Given the description of an element on the screen output the (x, y) to click on. 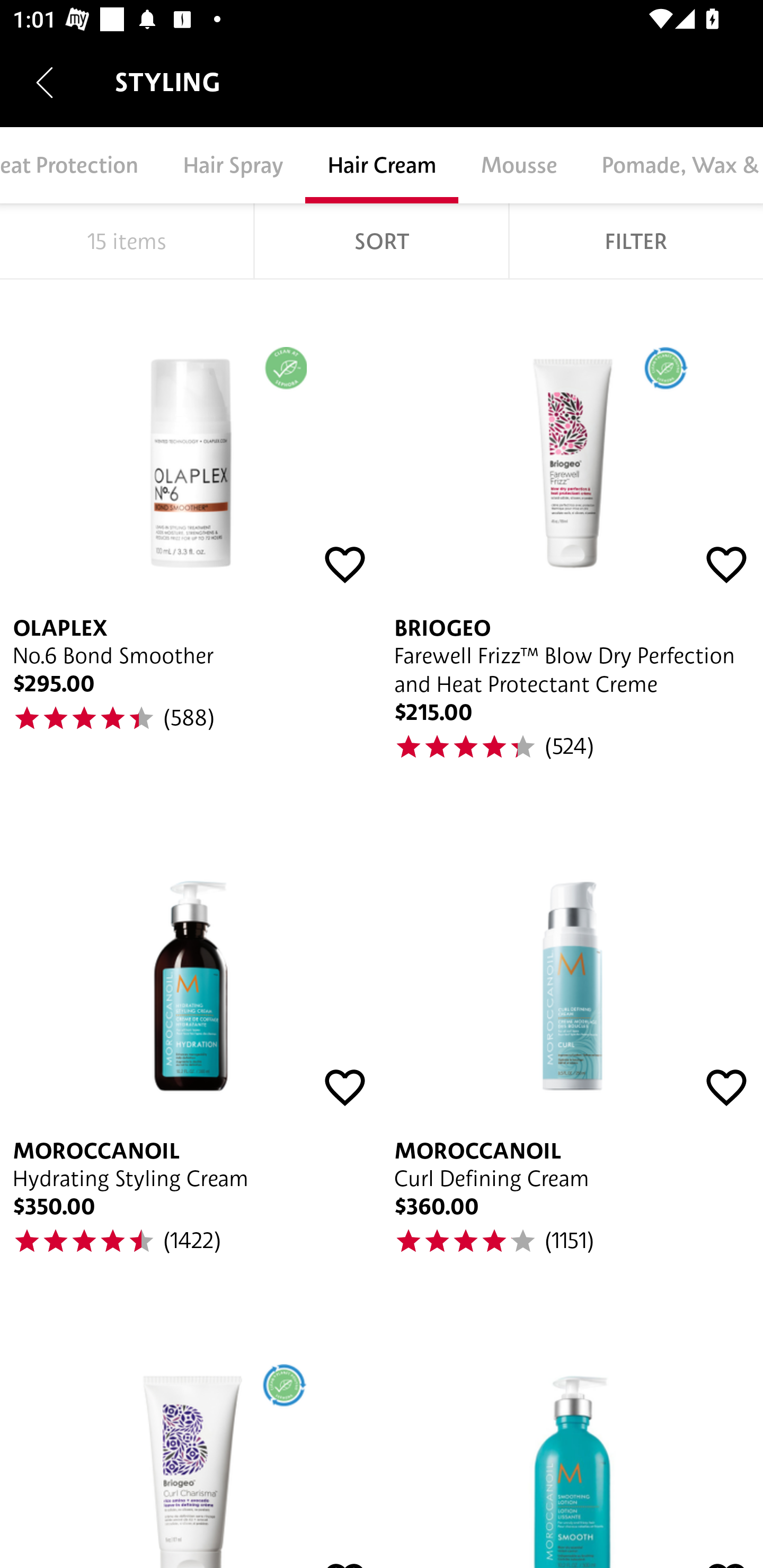
Navigate up (44, 82)
Heat Protection (80, 165)
Hair Spray (232, 165)
Mousse (518, 165)
Pomade, Wax & Gel (671, 165)
SORT (381, 241)
FILTER (636, 241)
OLAPLEX No.6 Bond Smoother $295.00 44.0 (588) (190, 540)
